Given the description of an element on the screen output the (x, y) to click on. 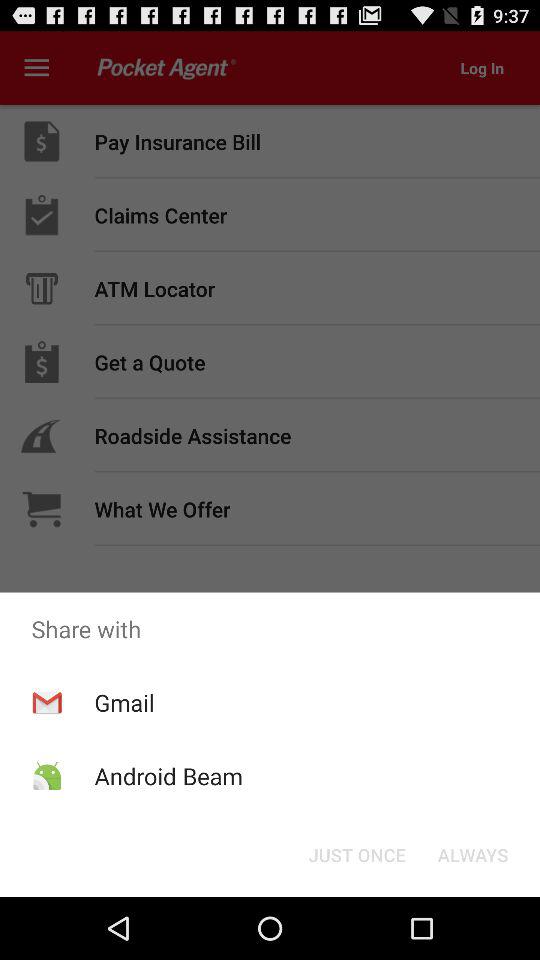
turn off button next to always icon (356, 854)
